Given the description of an element on the screen output the (x, y) to click on. 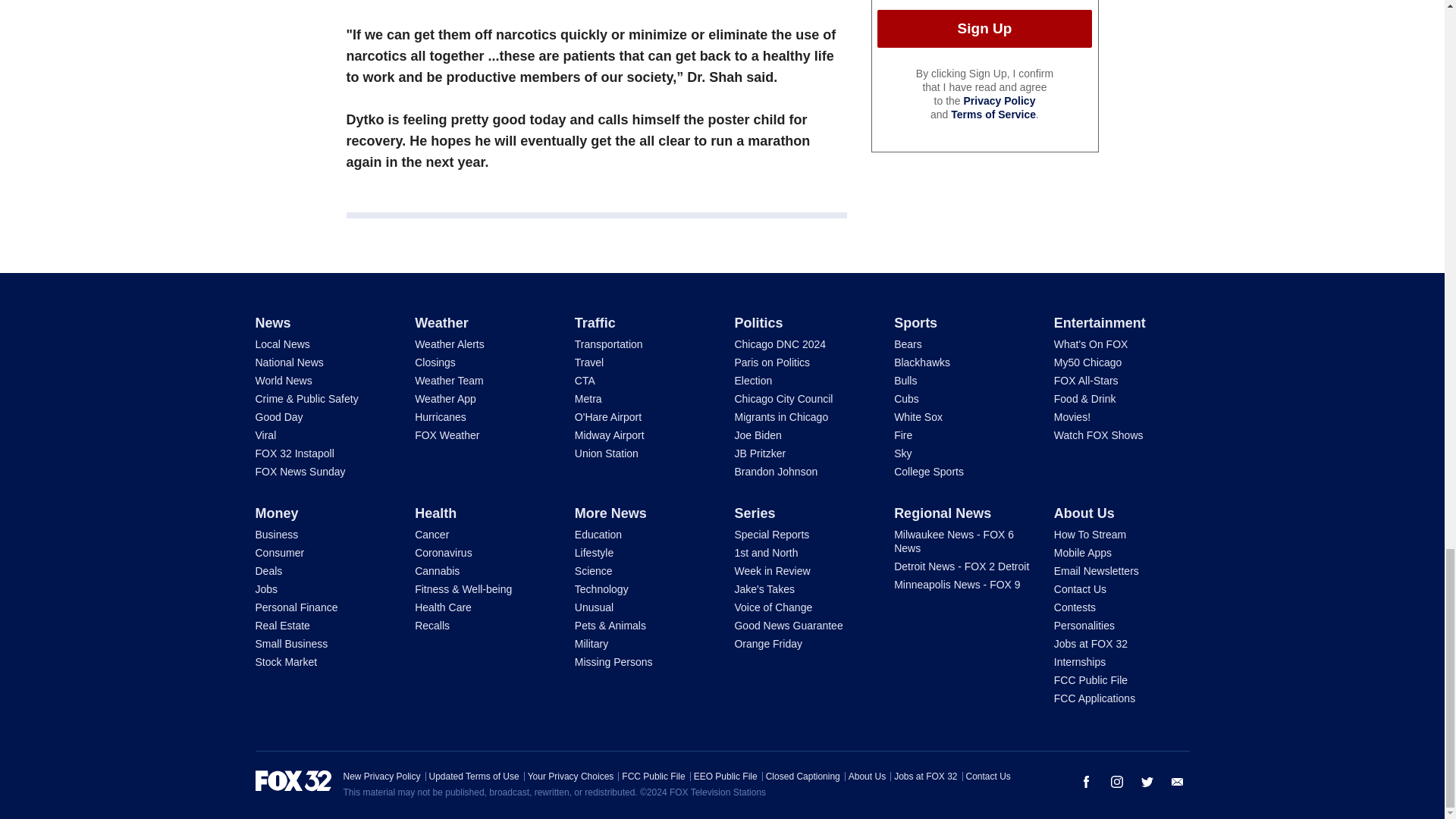
Sign Up (984, 28)
